Given the description of an element on the screen output the (x, y) to click on. 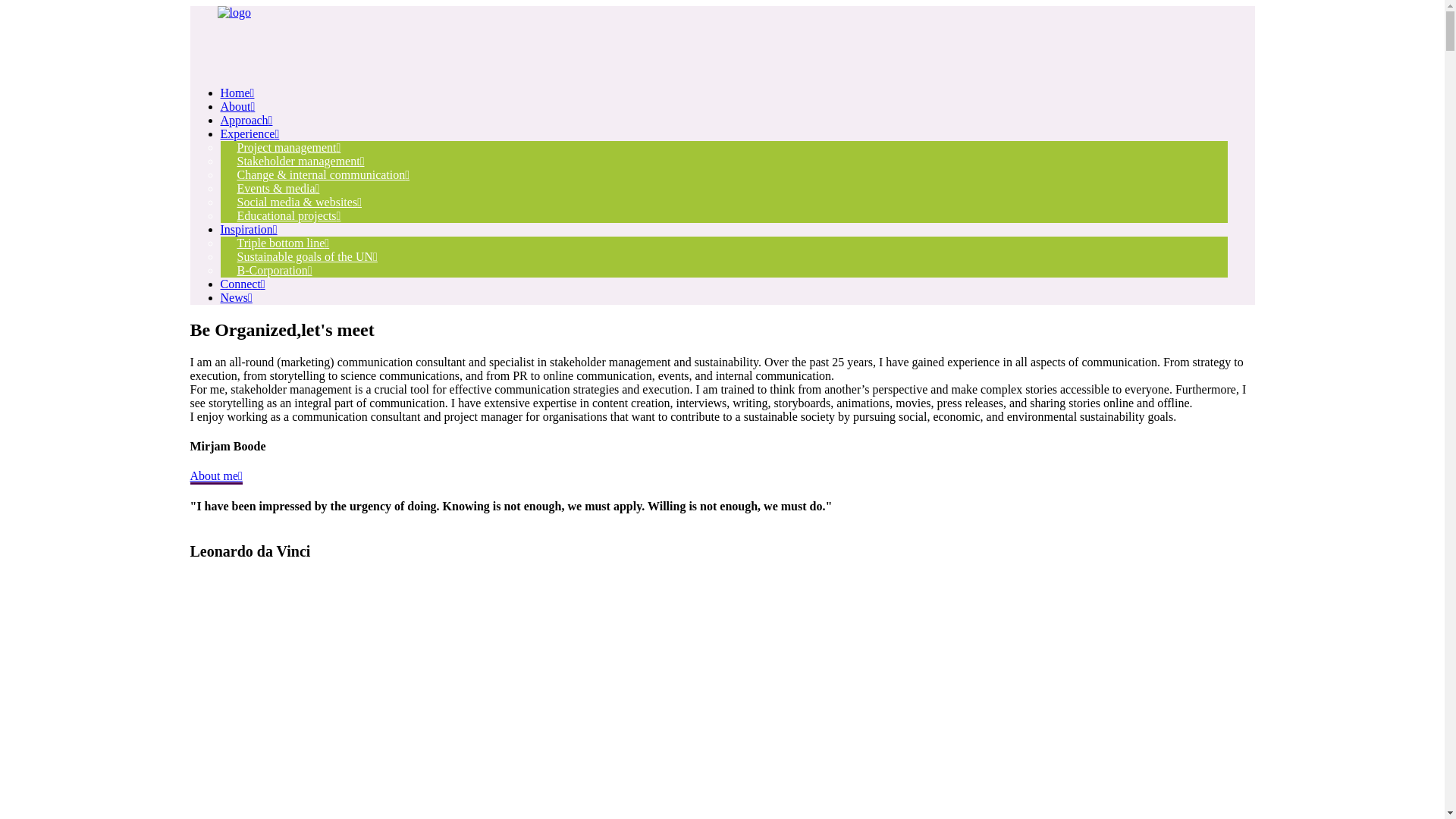
Events & media Element type: text (277, 188)
Change & internal communication Element type: text (322, 174)
News Element type: text (235, 297)
Stakeholder management Element type: text (299, 160)
Approach Element type: text (245, 119)
Inspiration Element type: text (247, 228)
Social media & websites Element type: text (298, 201)
Connect Element type: text (241, 283)
About me Element type: text (215, 476)
Experience Element type: text (249, 133)
About Element type: text (236, 106)
Project management Element type: text (288, 147)
Triple bottom line Element type: text (282, 242)
Sustainable goals of the UN Element type: text (306, 256)
Educational projects Element type: text (288, 215)
B-Corporation Element type: text (273, 270)
Home Element type: text (236, 92)
